Given the description of an element on the screen output the (x, y) to click on. 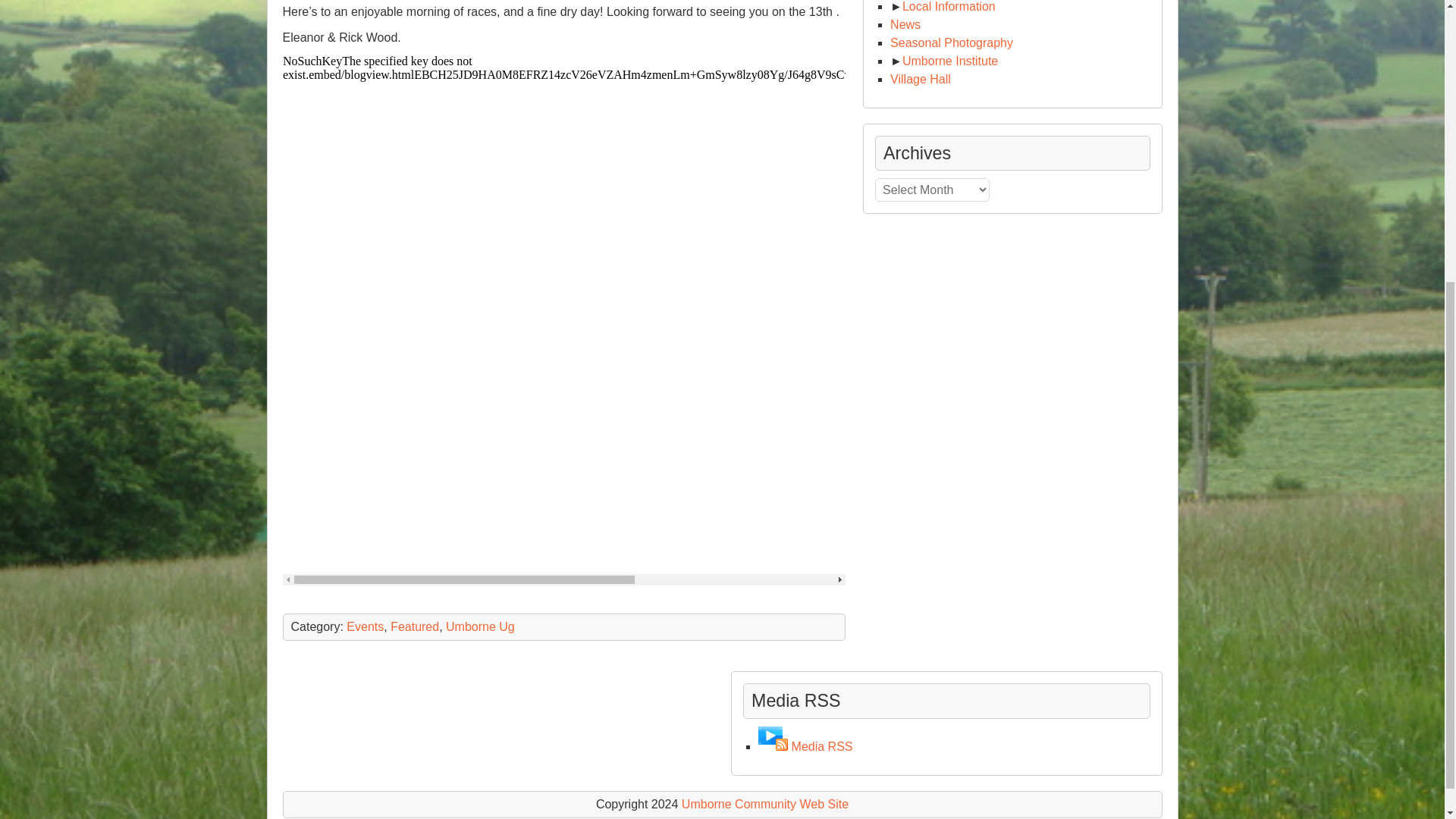
Umborne Community Web Site (764, 803)
Seasonal Photography (951, 42)
Media RSS (822, 746)
News (904, 24)
Events (365, 626)
Local Information (948, 6)
Umborne Institute (949, 60)
Umborne Ug (480, 626)
Featured (414, 626)
View all posts filed under News (904, 24)
View all posts filed under Local Information (948, 6)
Village Hall (919, 78)
